Given the description of an element on the screen output the (x, y) to click on. 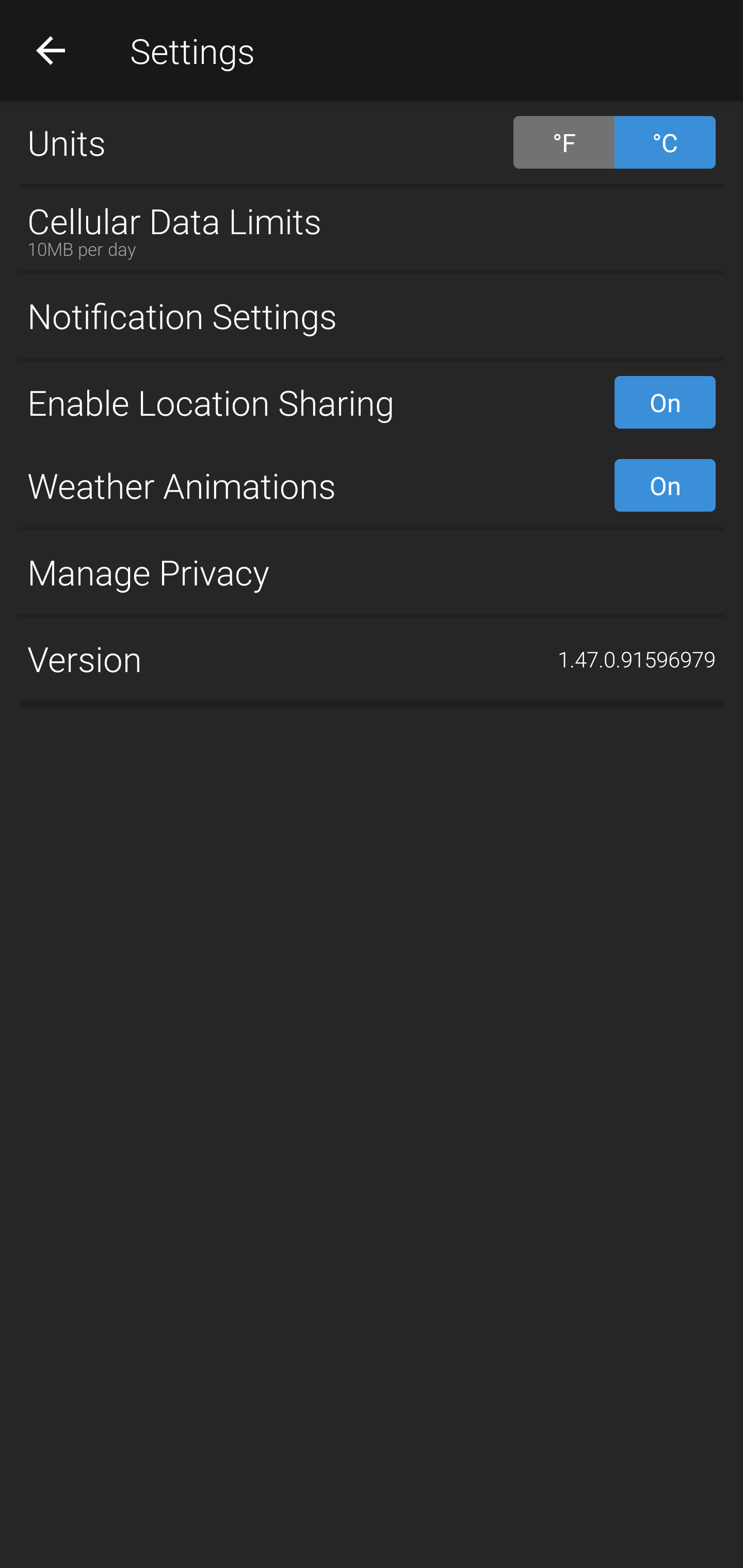
Navigate up (50, 50)
°F (563, 142)
°C (664, 142)
Cellular Data Limits 10MB per day (371, 229)
Notification Settings (371, 315)
Enable Location Sharing On (371, 401)
On (664, 402)
Weather Animations On (371, 484)
On (664, 485)
Manage Privacy (371, 571)
1.47.0.91596979 (636, 658)
